Given the description of an element on the screen output the (x, y) to click on. 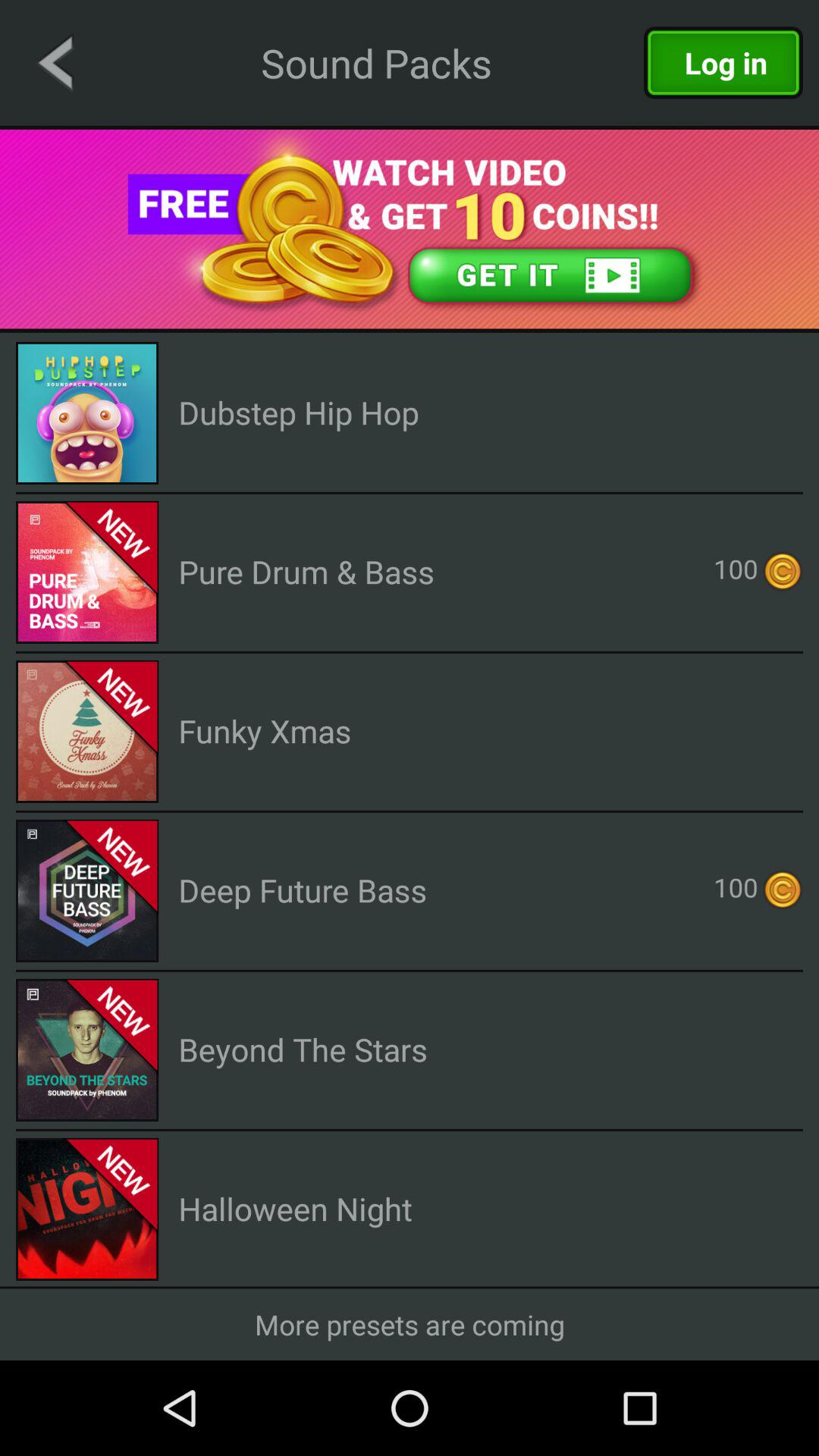
turn off item to the left of sound packs item (54, 62)
